Given the description of an element on the screen output the (x, y) to click on. 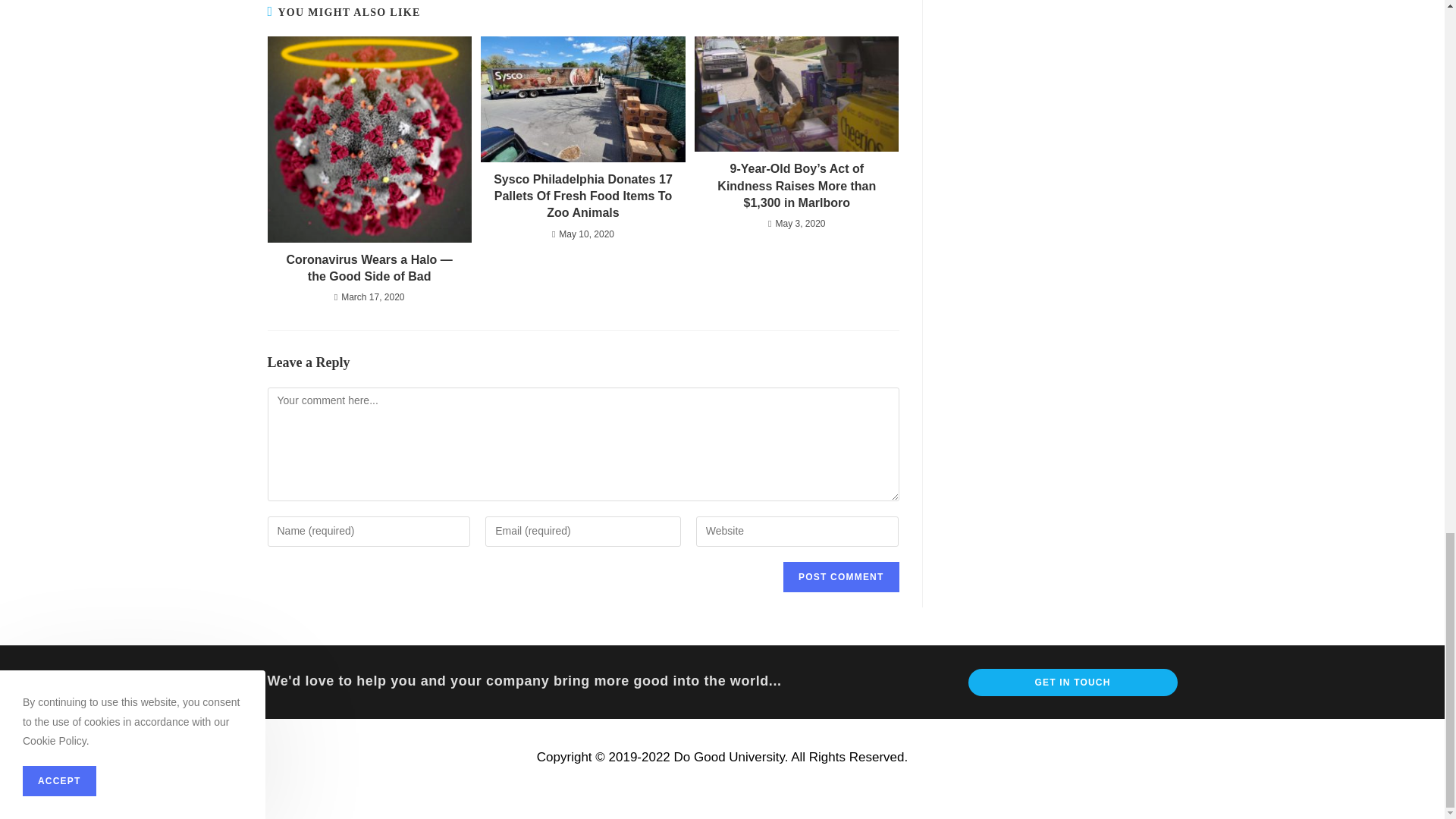
Post Comment (840, 576)
Post Comment (840, 576)
